Given the description of an element on the screen output the (x, y) to click on. 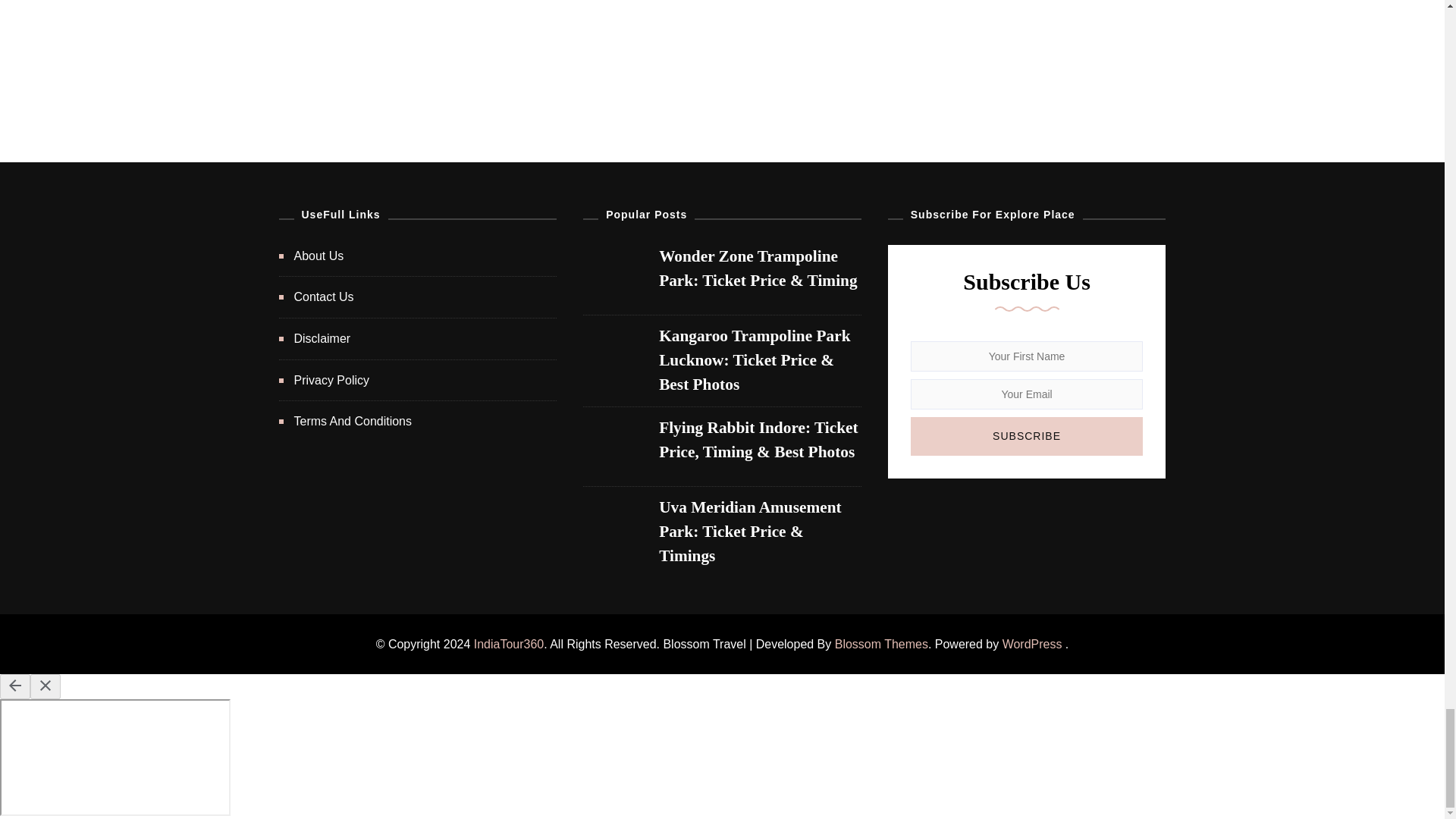
Subscribe (1026, 435)
